Given the description of an element on the screen output the (x, y) to click on. 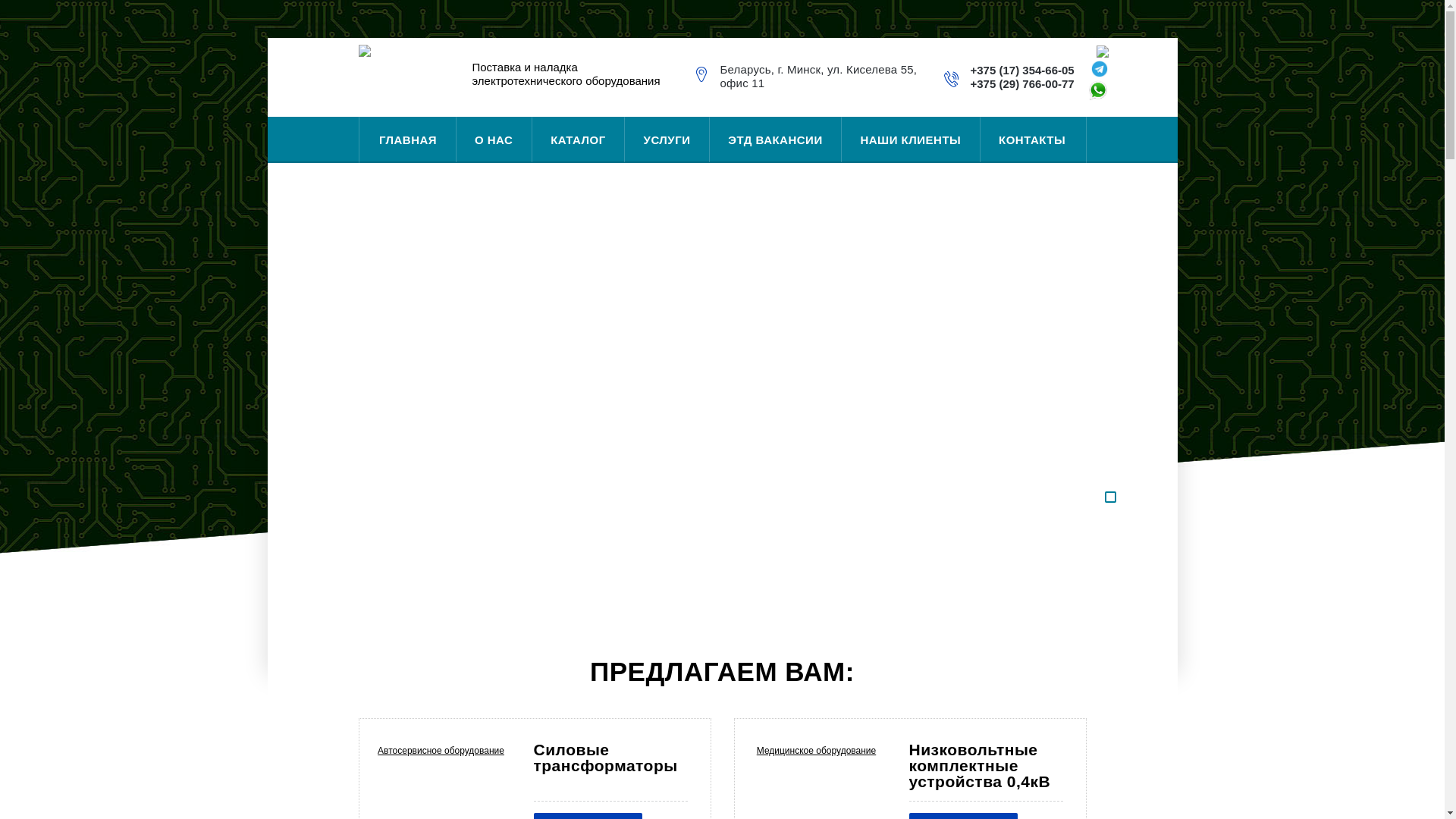
+375 (17) 354-66-05 Element type: text (1022, 69)
+375 (29) 766-00-77 Element type: text (1022, 83)
Viber Element type: hover (1102, 53)
Telegram Element type: hover (1099, 72)
WhatsApp Element type: hover (1103, 96)
